Given the description of an element on the screen output the (x, y) to click on. 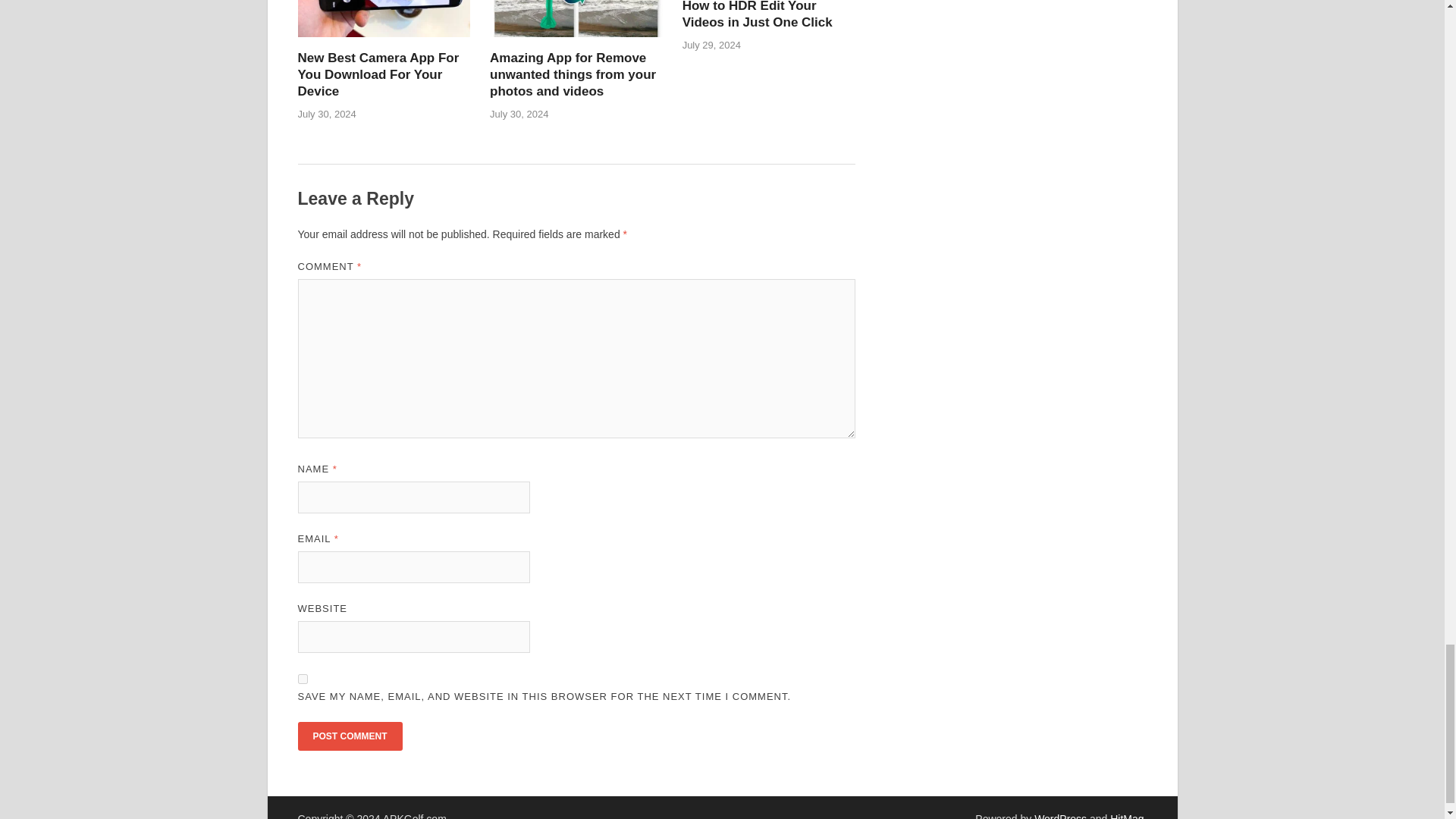
Post Comment (349, 736)
How to HDR Edit Your Videos in Just One Click (757, 14)
New Best Camera App For You Download For Your Device 2 (383, 18)
New Best Camera App For You Download For Your Device (377, 74)
How to HDR Edit Your Videos in Just One Click (757, 14)
New Best Camera App For You Download For Your Device (377, 74)
yes (302, 678)
Post Comment (349, 736)
